Given the description of an element on the screen output the (x, y) to click on. 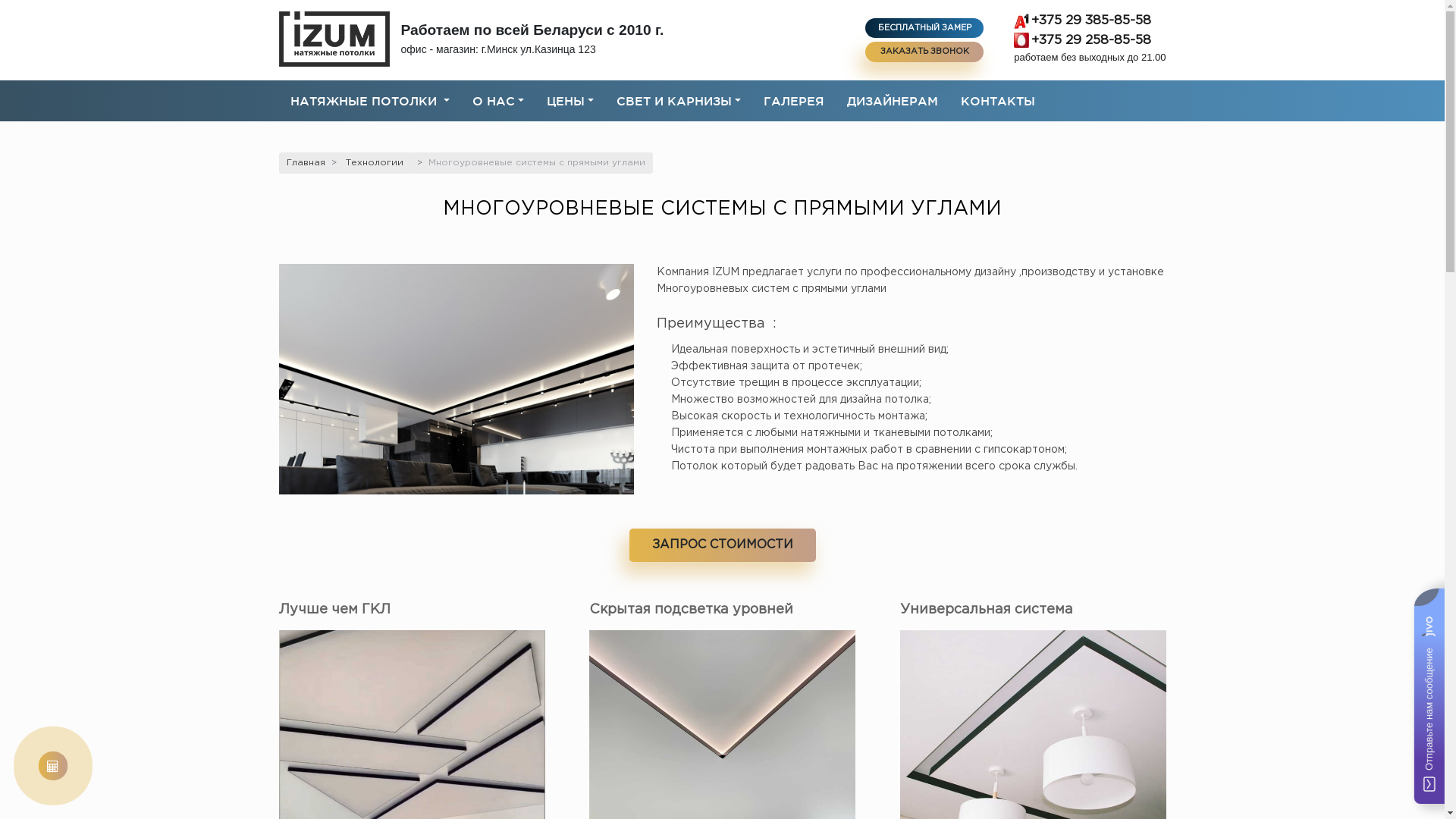
+375 29 385-85-58 Element type: text (1089, 21)
+375 29 258-85-58 Element type: text (1089, 40)
